Given the description of an element on the screen output the (x, y) to click on. 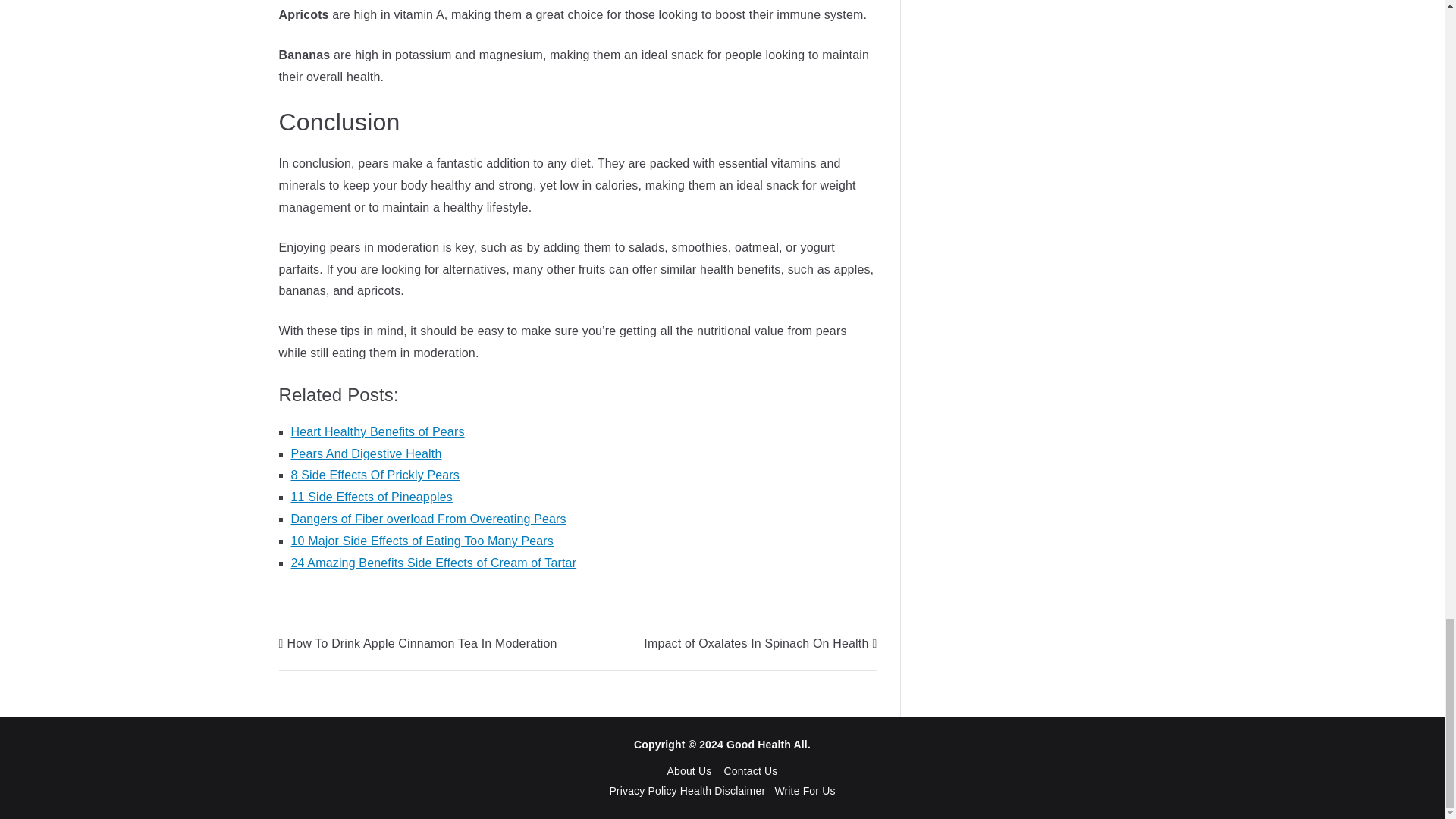
10 Major Side Effects of Eating Too Many Pears (422, 540)
8 Side Effects Of Prickly Pears (375, 474)
Impact of Oxalates In Spinach On Health (759, 643)
Heart Healthy Benefits of Pears (377, 431)
How To Drink Apple Cinnamon Tea In Moderation (418, 643)
Pears And Digestive Health (366, 453)
Good Health All (767, 744)
Dangers of Fiber overload From Overeating Pears (428, 518)
Health Disclaimer (722, 790)
Good Health All (767, 744)
Contact Us (750, 770)
Write For Us (804, 790)
24 Amazing Benefits Side Effects of Cream of Tartar (433, 562)
Privacy Policy (643, 790)
11 Side Effects of Pineapples (371, 496)
